Given the description of an element on the screen output the (x, y) to click on. 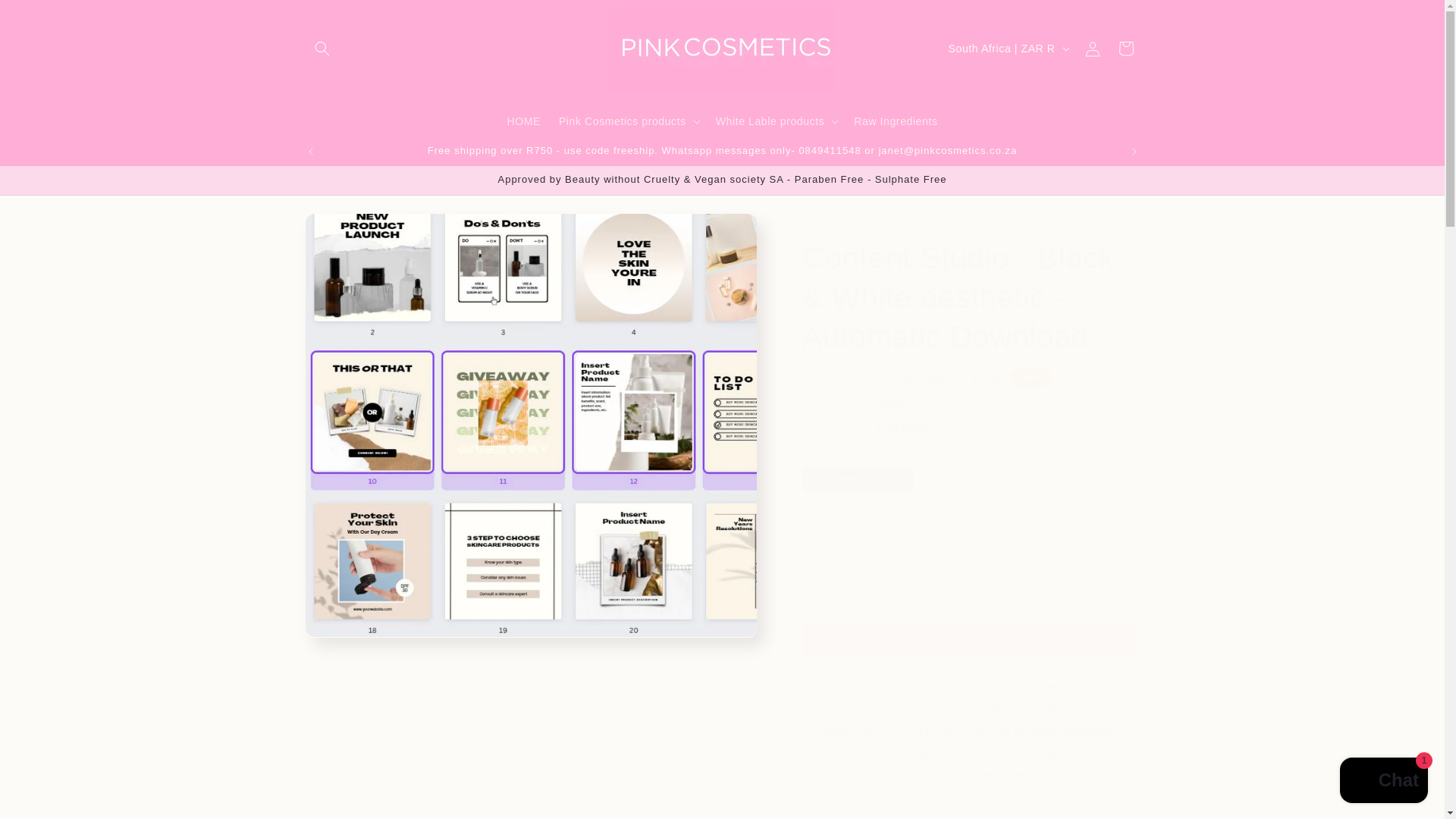
Shopify online store chat (1383, 781)
0 Reviews (865, 426)
1 (856, 541)
Skip to content (45, 17)
